Given the description of an element on the screen output the (x, y) to click on. 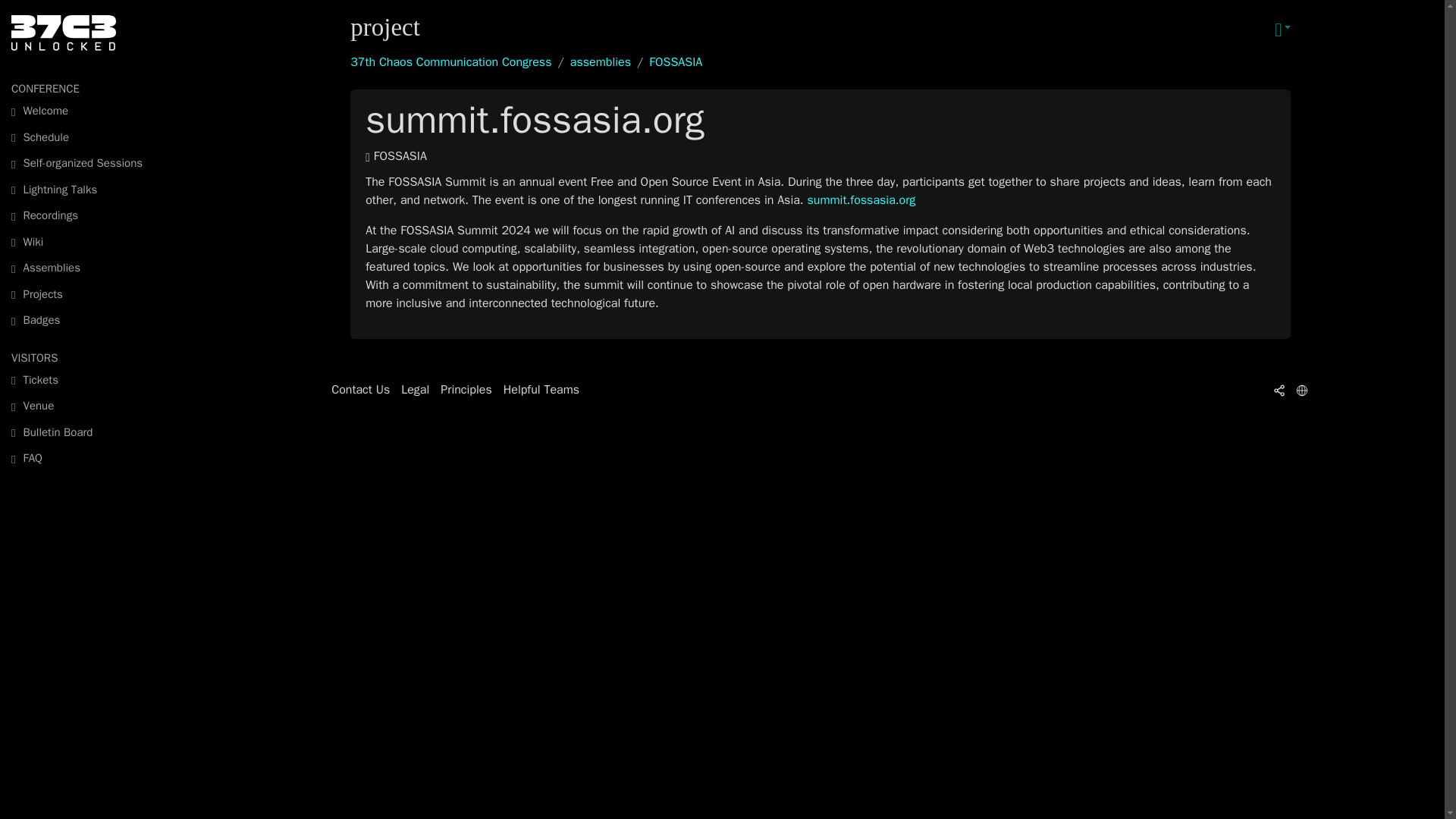
Venue (97, 406)
how? when? where? (97, 379)
Gotta find them all! (97, 320)
Principles (466, 389)
assemblies (600, 61)
summit.fossasia.org (860, 200)
Legal (415, 389)
Legal (415, 389)
start page (97, 110)
frequently asked questions (97, 458)
